Given the description of an element on the screen output the (x, y) to click on. 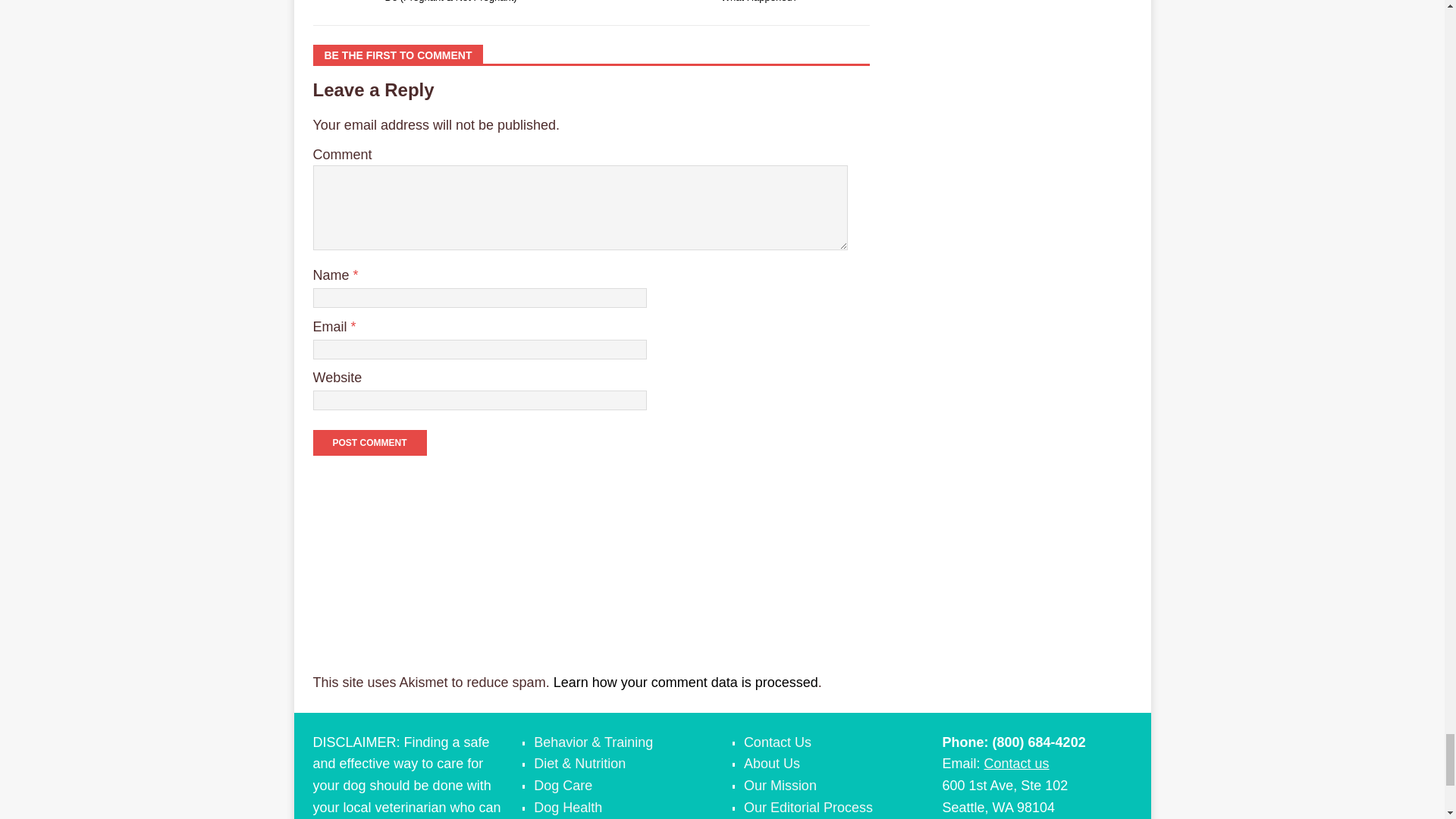
Post Comment (369, 442)
